Given the description of an element on the screen output the (x, y) to click on. 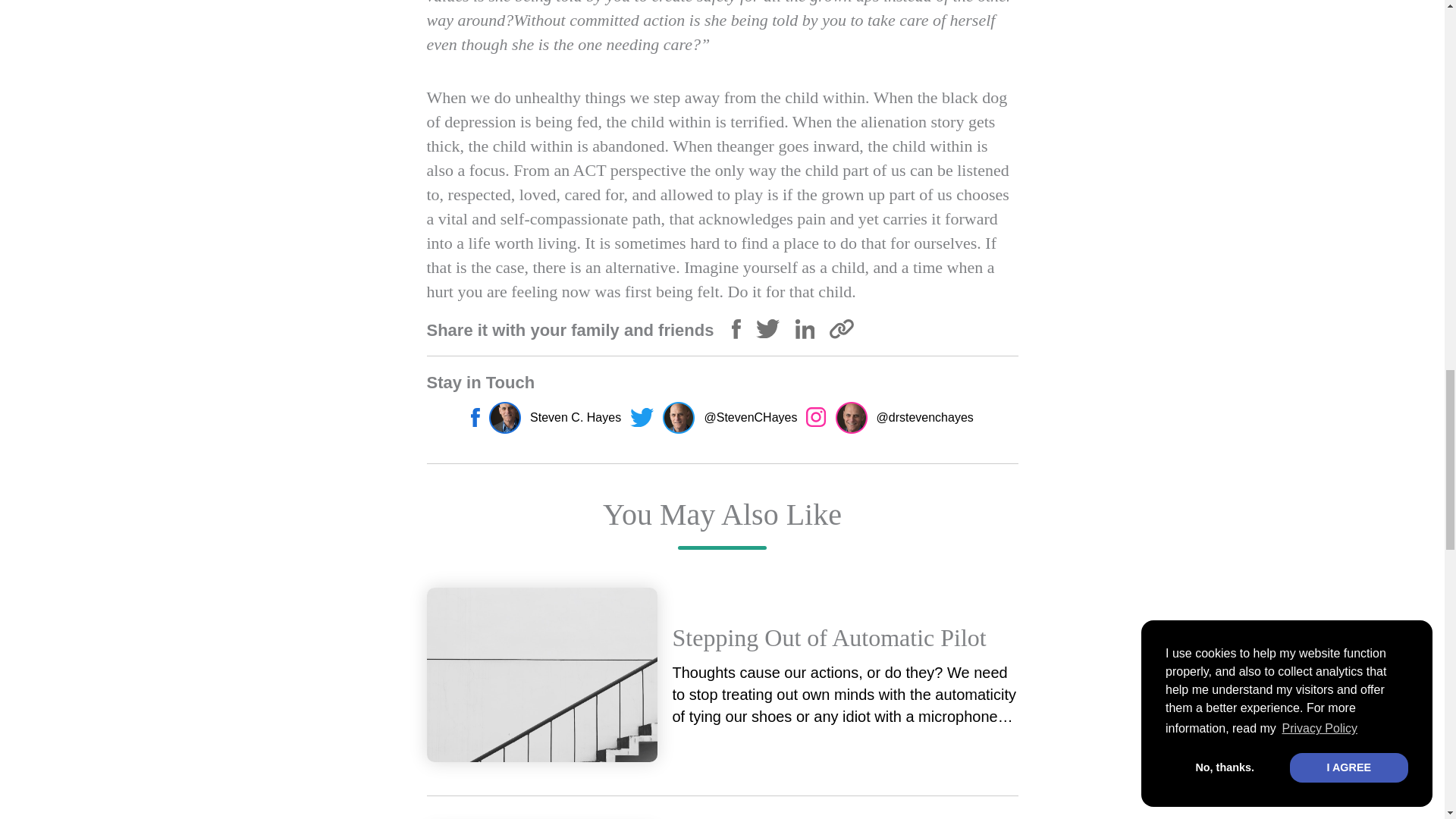
Steven C. Hayes (545, 418)
